Given the description of an element on the screen output the (x, y) to click on. 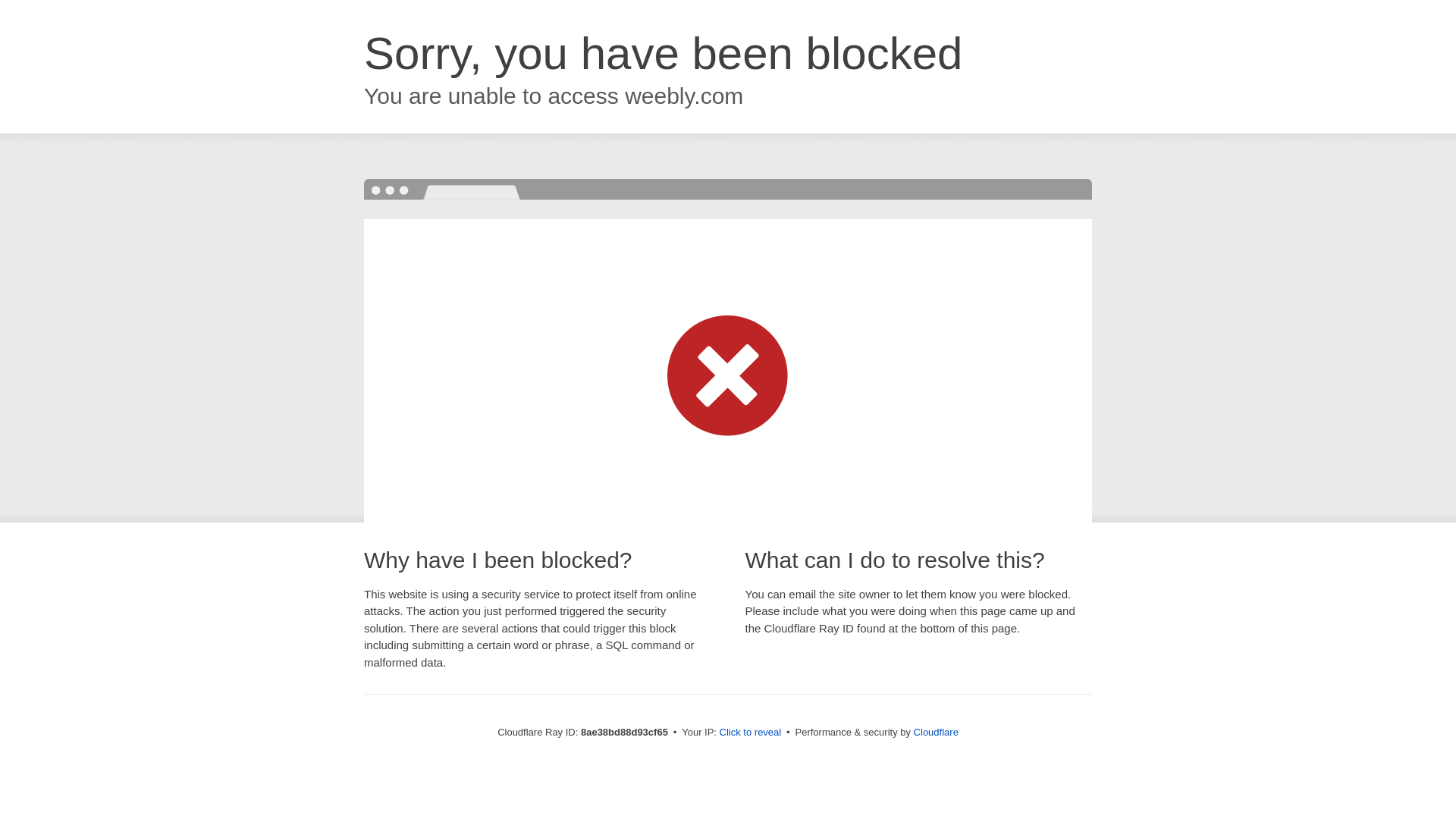
Click to reveal (750, 732)
Cloudflare (936, 731)
